Given the description of an element on the screen output the (x, y) to click on. 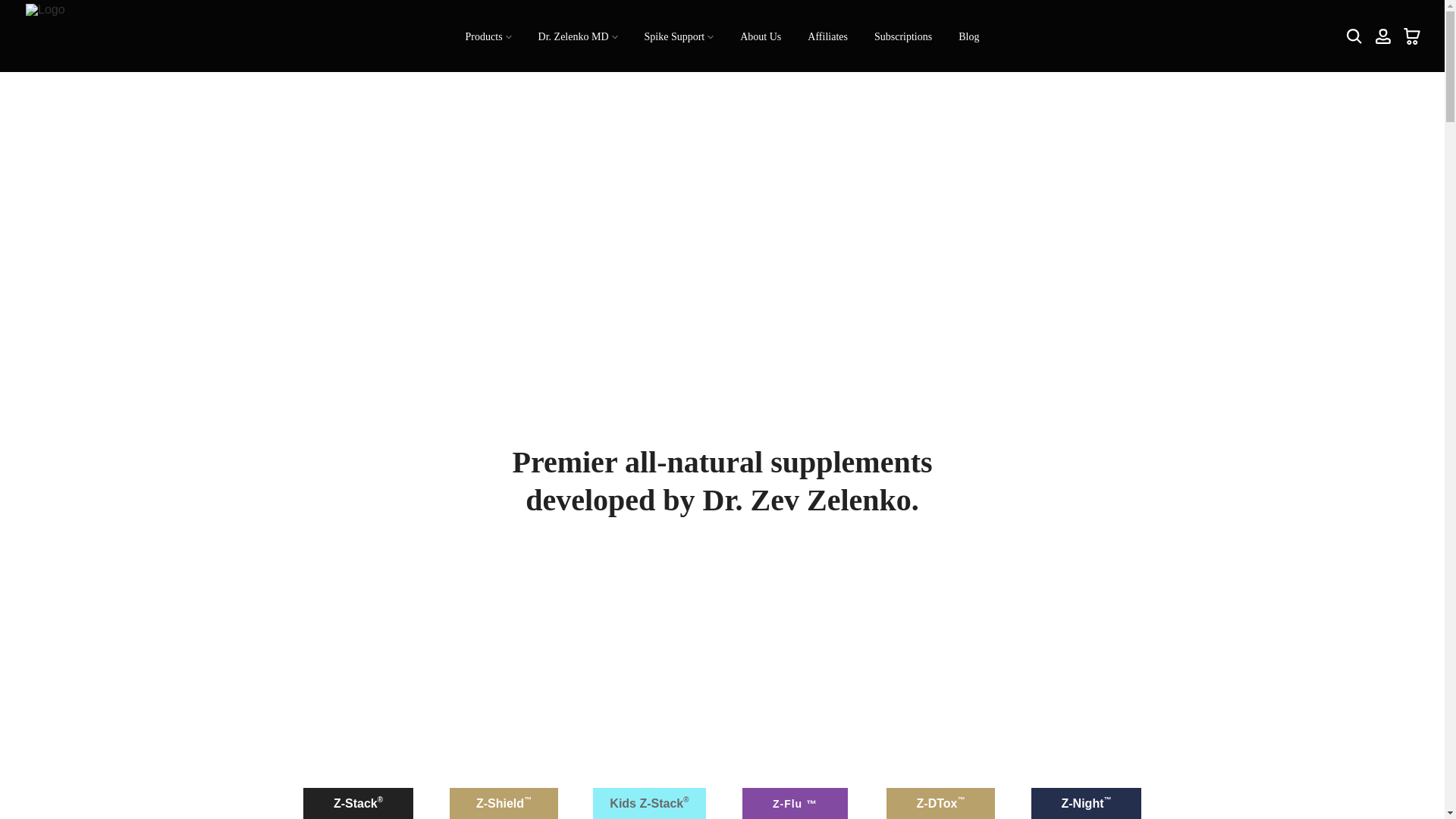
Affiliates (827, 36)
Skip to content (10, 7)
Spike Support (678, 36)
Subscriptions (902, 36)
Dr. Zelenko MD (577, 36)
Products (487, 36)
About Us (760, 36)
Blog (968, 36)
